Given the description of an element on the screen output the (x, y) to click on. 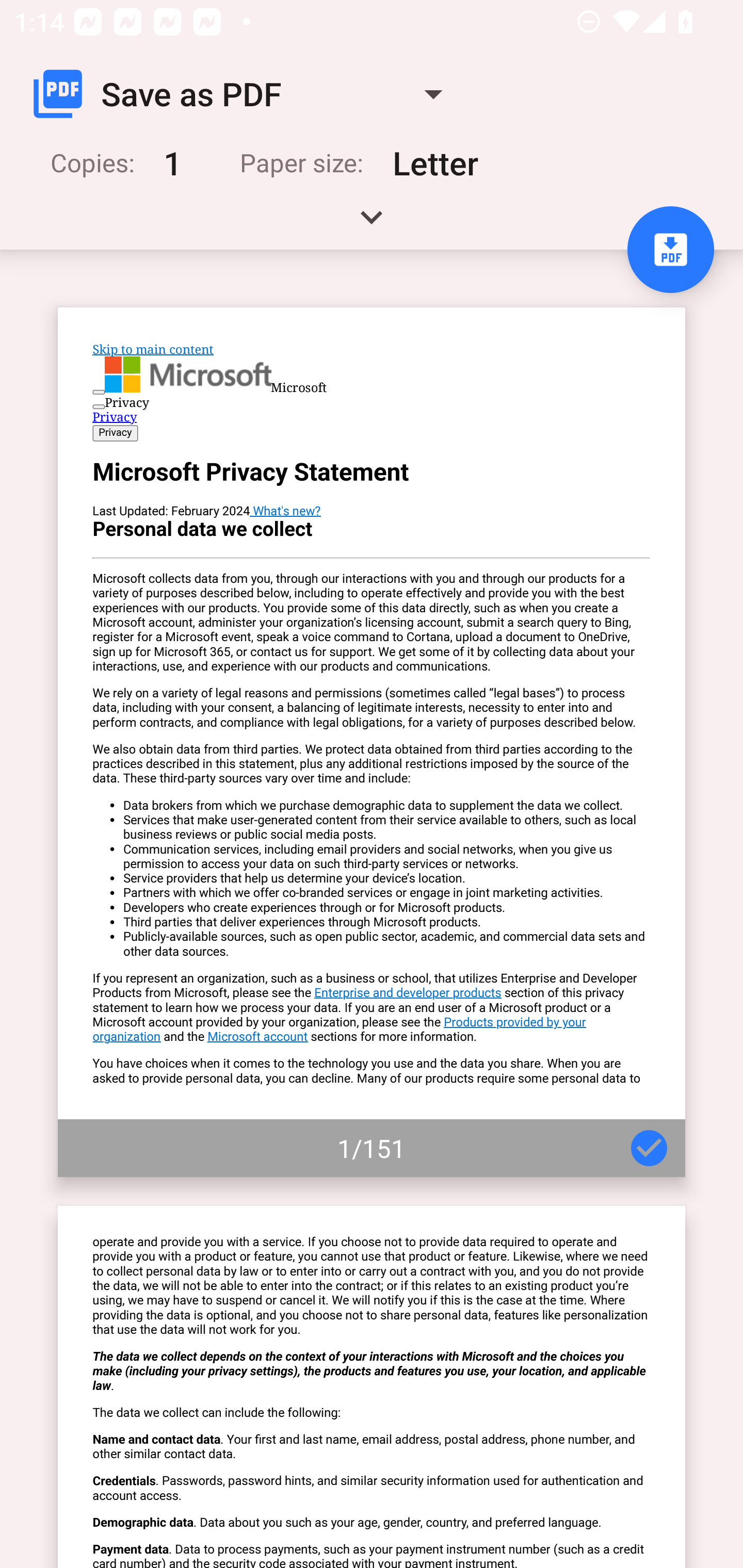
Save as PDF (245, 93)
Expand handle (371, 224)
Save to PDF (670, 249)
Page 1 of 151 1/151 (371, 742)
Page 2 of 151 (371, 1386)
